Given the description of an element on the screen output the (x, y) to click on. 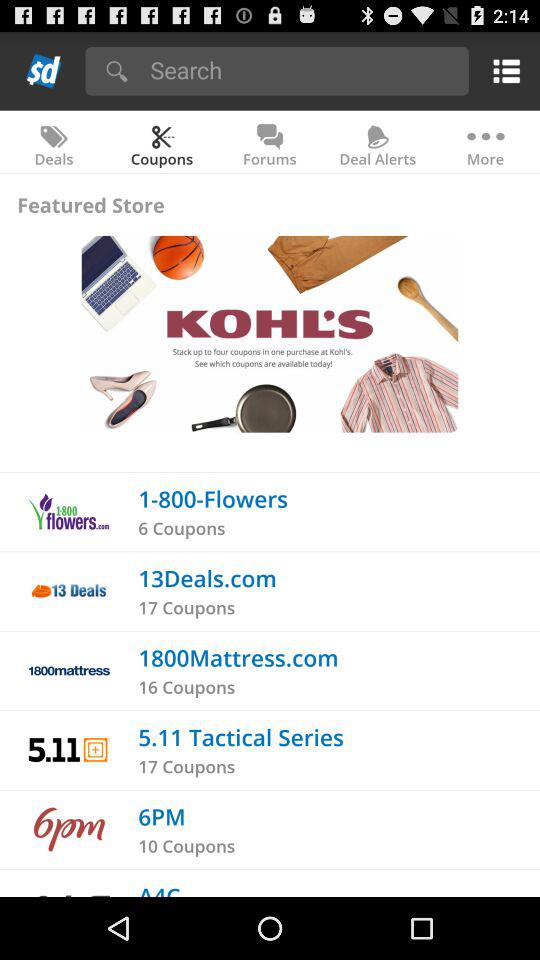
turn on the a4c (159, 888)
